Given the description of an element on the screen output the (x, y) to click on. 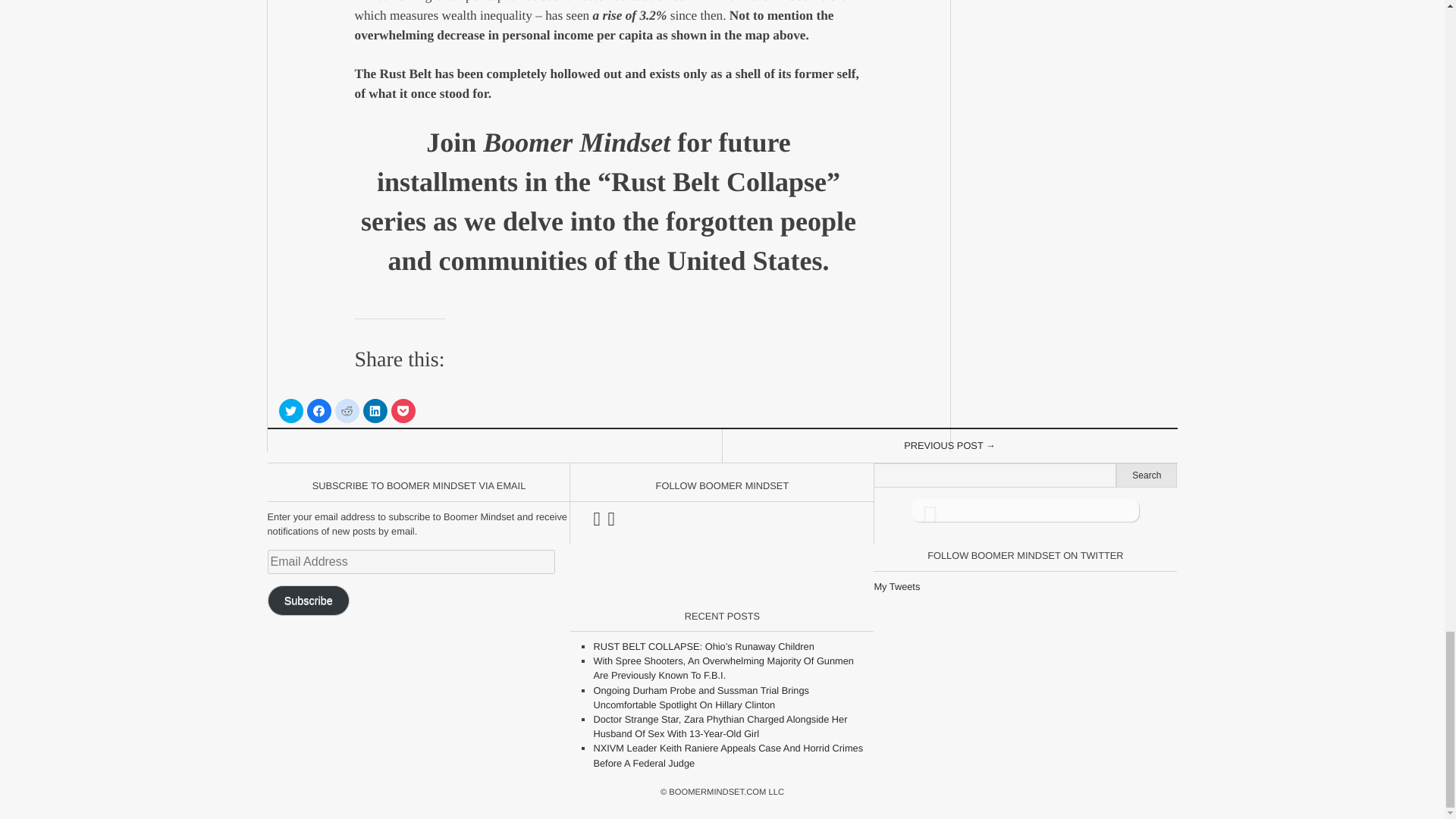
Search (1146, 475)
Click to share on Facebook (317, 410)
Click to share on Pocket (402, 410)
Click to share on Twitter (290, 410)
Click to share on LinkedIn (374, 410)
Click to share on Reddit (346, 410)
